Given the description of an element on the screen output the (x, y) to click on. 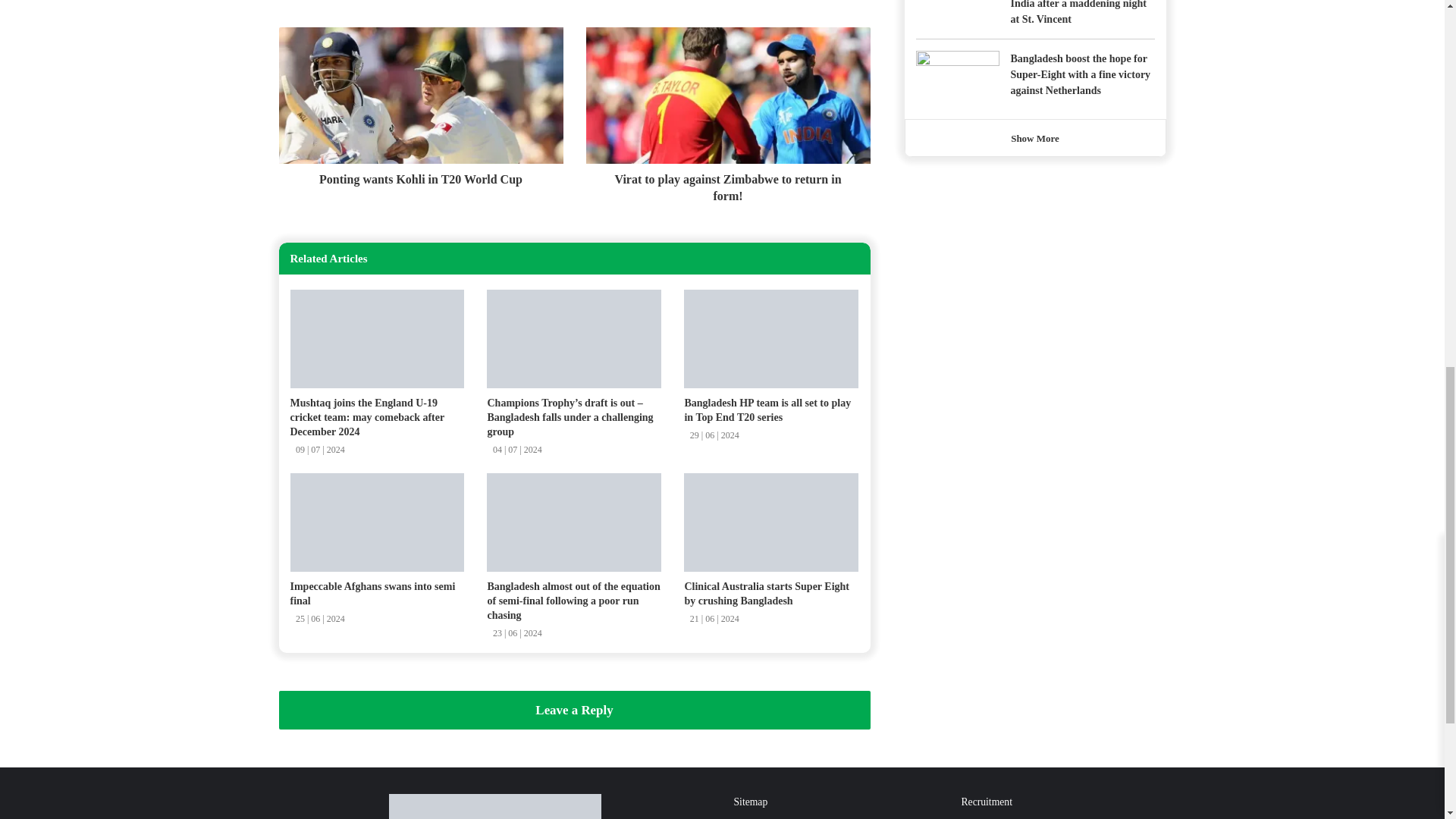
Impeccable Afghans swans into semi final (371, 593)
Leave a Reply (574, 710)
Ponting wants Kohli in T20 World Cup (421, 175)
Bangladesh HP team is all set to play in Top End T20 series (767, 410)
Clinical Australia starts Super Eight by crushing Bangladesh (766, 593)
Virat to play against Zimbabwe to return in form! (727, 183)
